Given the description of an element on the screen output the (x, y) to click on. 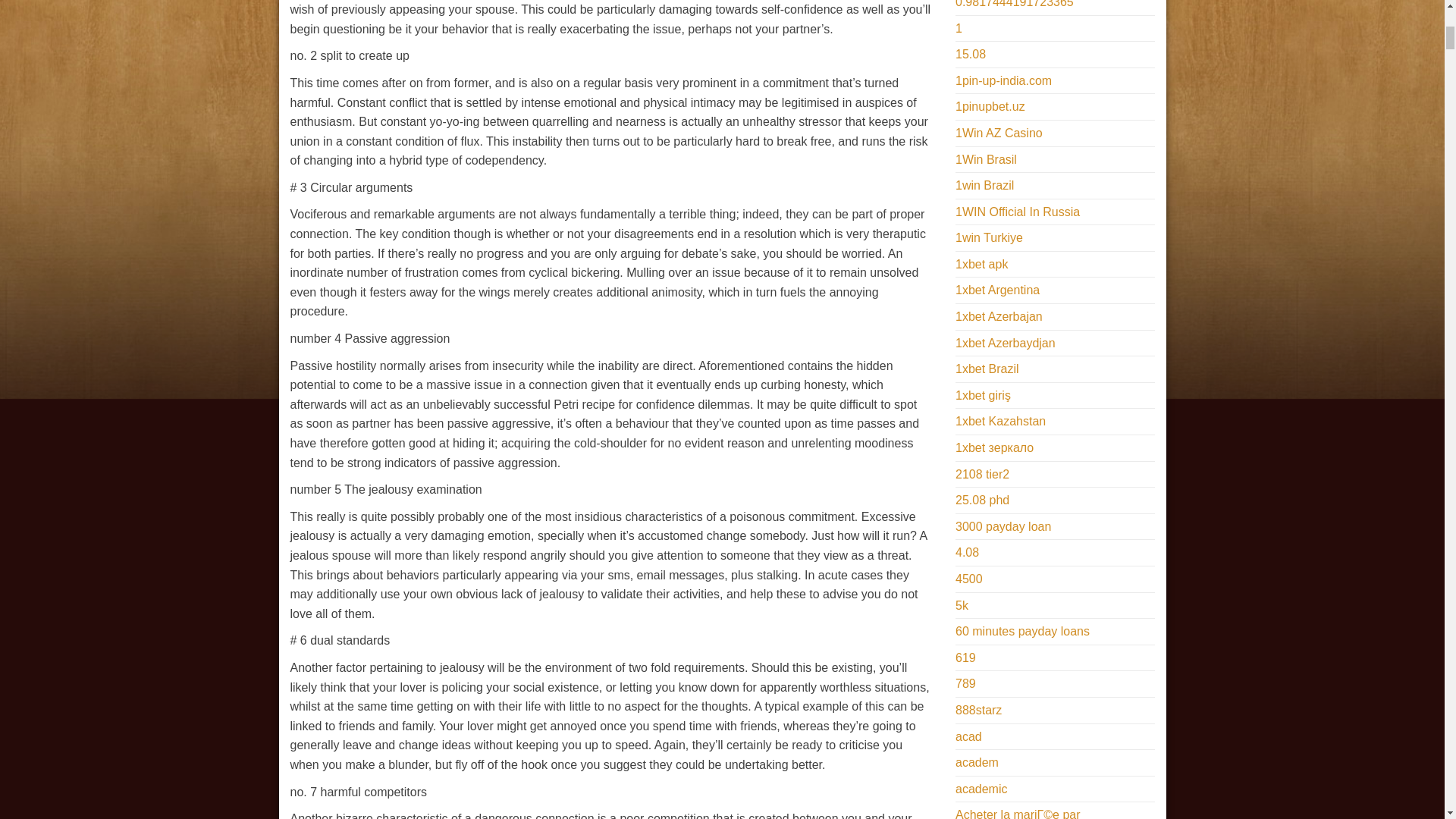
1Win AZ Casino (998, 132)
1WIN Official In Russia (1017, 211)
0.9817444191723365 (1014, 4)
1pinupbet.uz (990, 106)
15.08 (970, 53)
1win Turkiye (989, 237)
1pin-up-india.com (1003, 80)
1win Brazil (984, 185)
1Win Brasil (985, 159)
1xbet apk (981, 264)
